Given the description of an element on the screen output the (x, y) to click on. 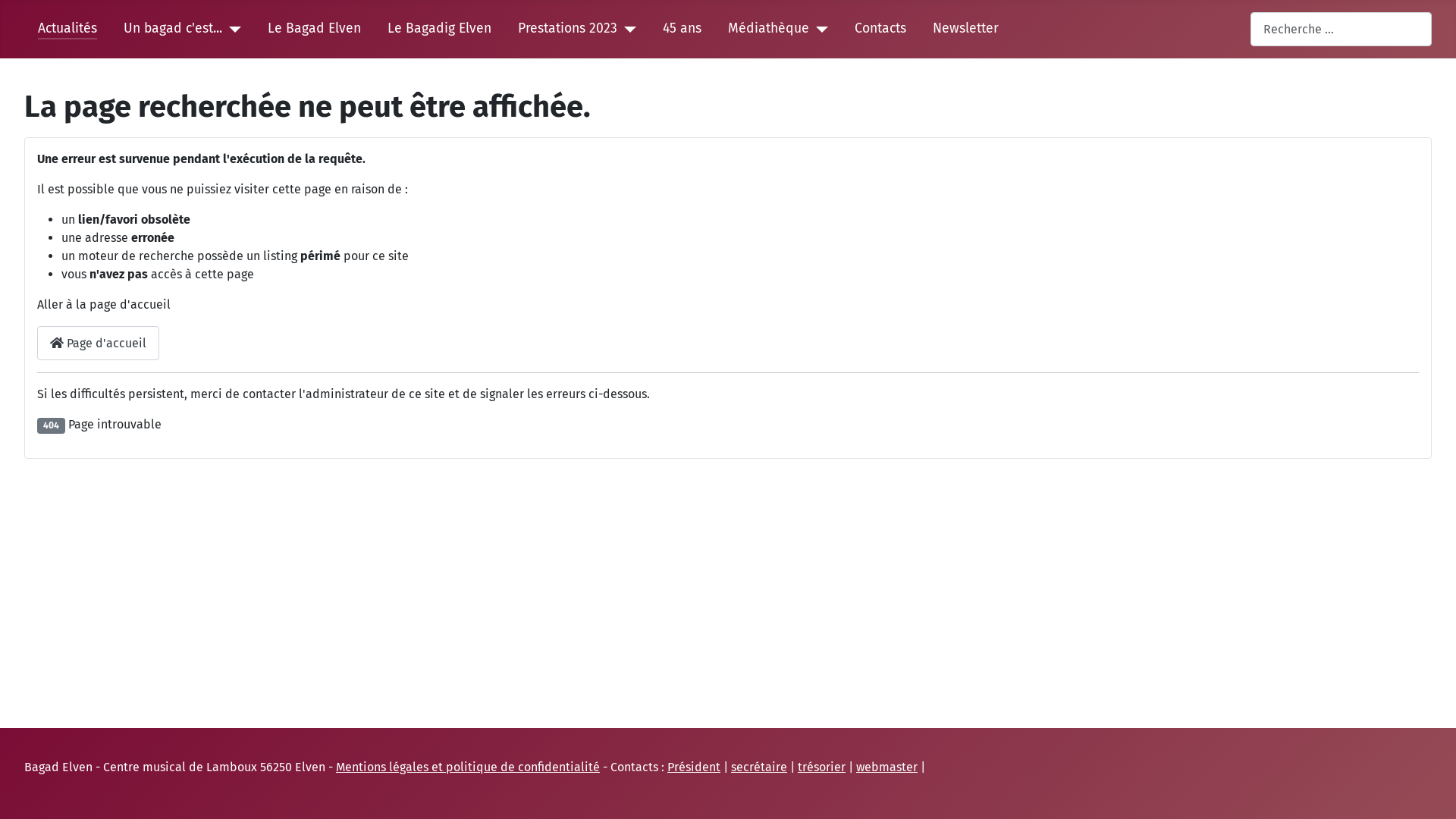
45 ans Element type: text (681, 28)
Le Bagad Elven Element type: text (313, 28)
Newsletter Element type: text (965, 28)
Contacts Element type: text (880, 28)
Page d'accueil Element type: text (98, 343)
Prestations 2023 Element type: text (567, 28)
Un bagad c'est... Element type: text (172, 28)
Le Bagadig Elven Element type: text (439, 28)
webmaster Element type: text (886, 766)
